Given the description of an element on the screen output the (x, y) to click on. 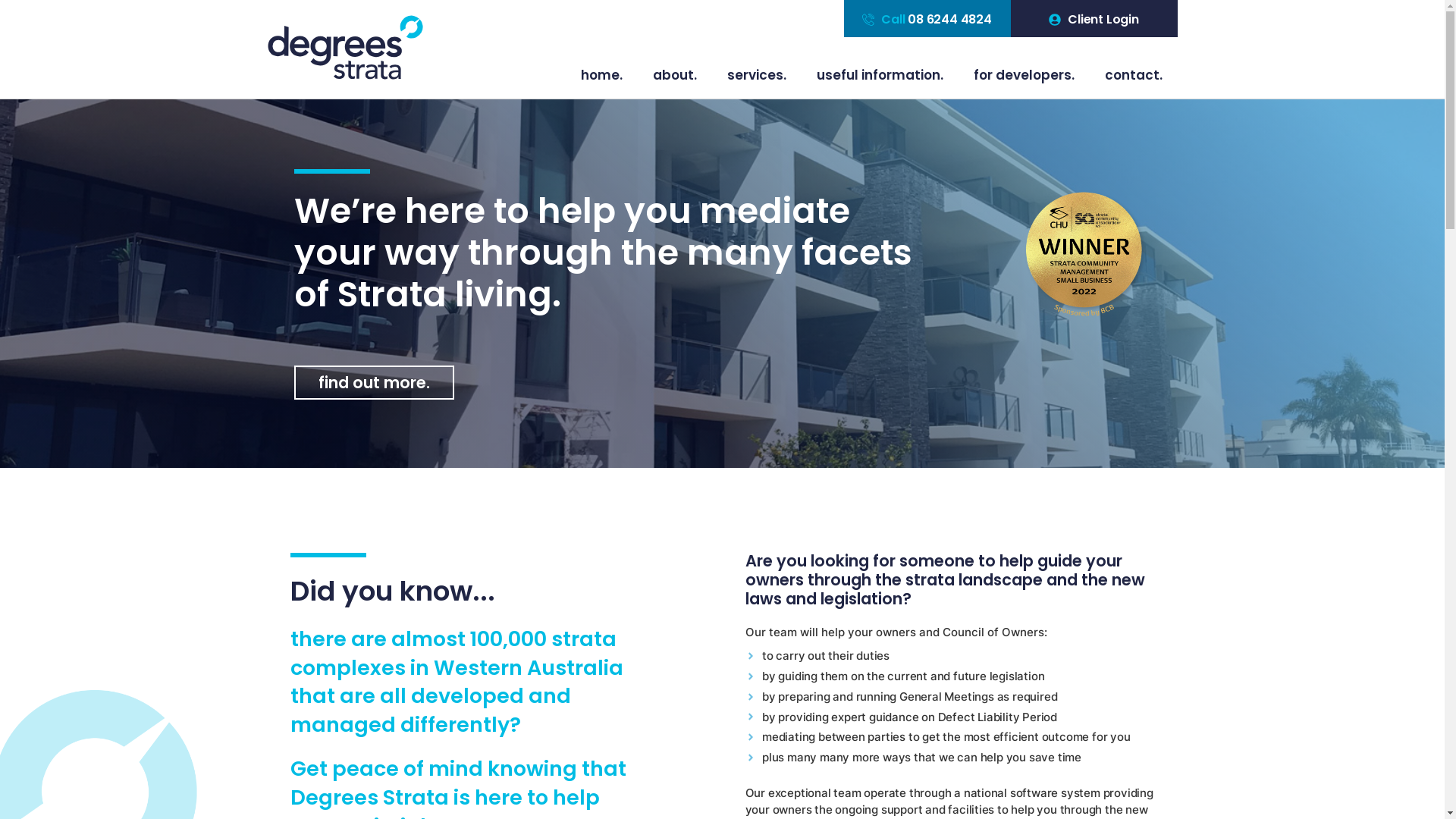
for developers. Element type: text (1023, 74)
find out more. Element type: text (374, 382)
useful information. Element type: text (878, 74)
home. Element type: text (601, 74)
Client Login Element type: text (1093, 19)
services. Element type: text (755, 74)
Call 08 6244 4824 Element type: text (927, 19)
degrees-strata-logo-col Element type: hover (344, 47)
about. Element type: text (674, 74)
contact. Element type: text (1132, 74)
